Given the description of an element on the screen output the (x, y) to click on. 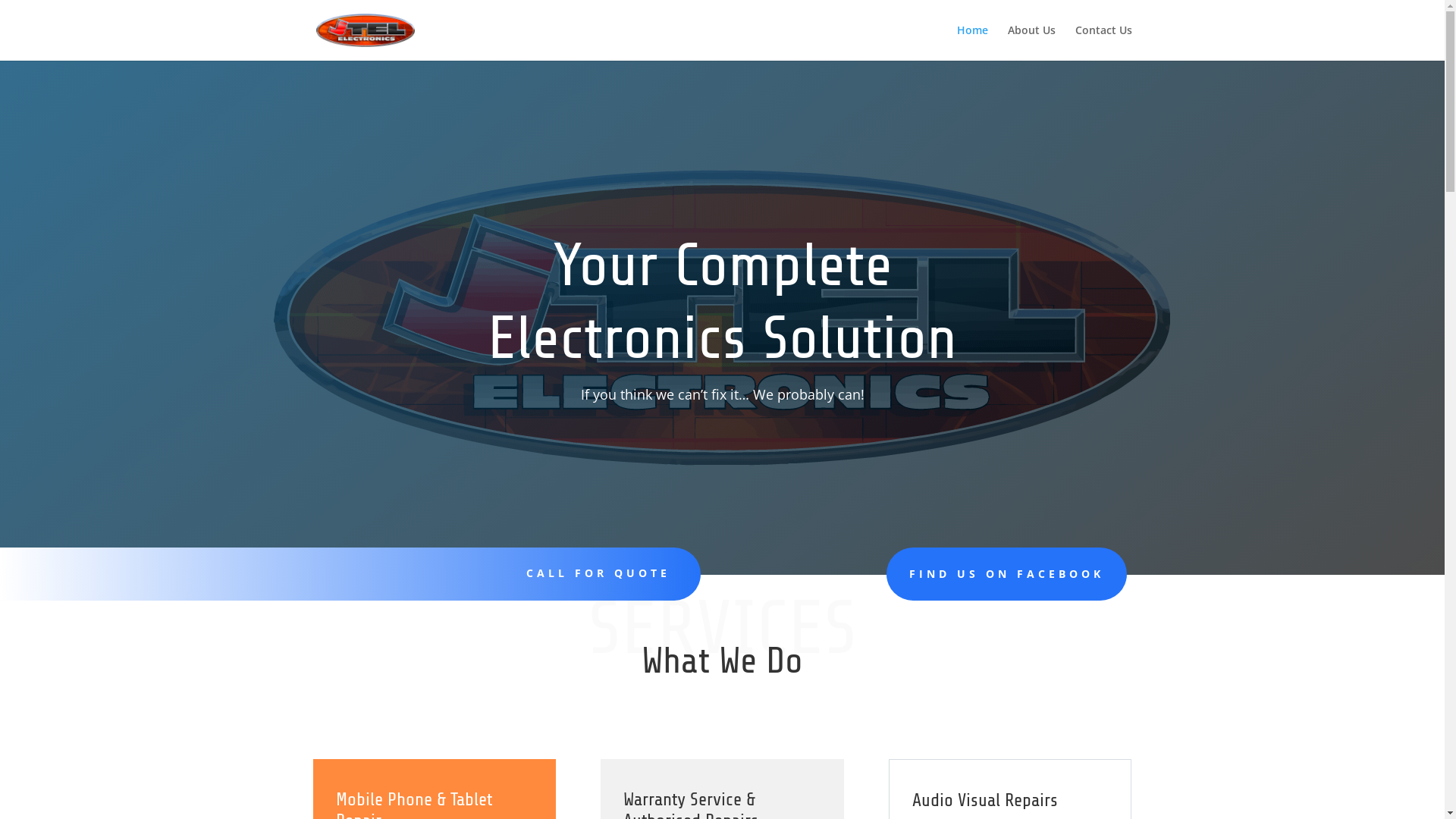
Home Element type: text (972, 42)
CALL FOR QUOTE Element type: text (598, 572)
About Us Element type: text (1030, 42)
Contact Us Element type: text (1103, 42)
FIND US ON FACEBOOK Element type: text (1006, 573)
